Given the description of an element on the screen output the (x, y) to click on. 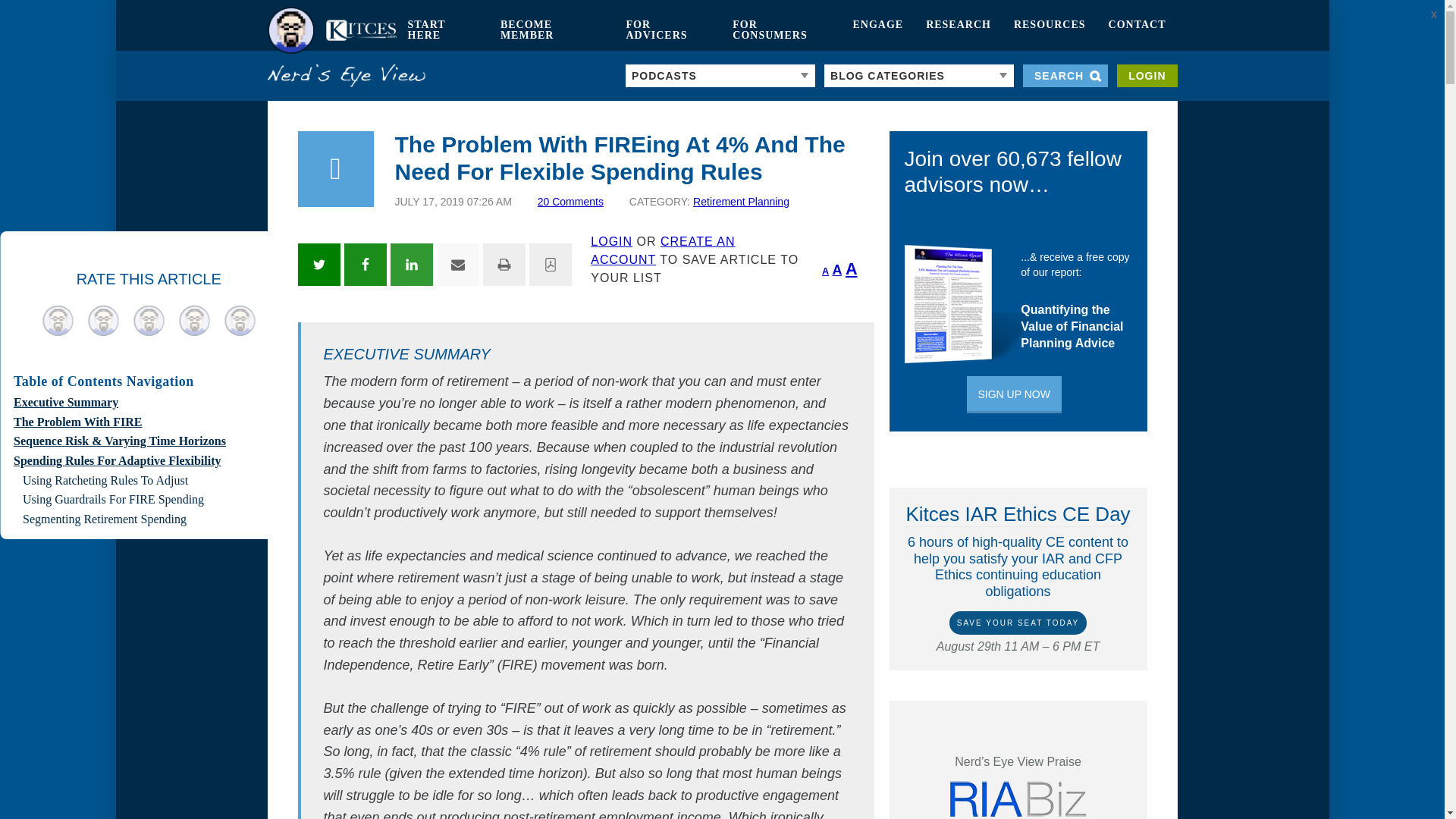
ENGAGE (877, 30)
BECOME MEMBER (551, 30)
FOR ADVICERS (667, 30)
Share via Email (457, 264)
Share on Facebook (365, 264)
START HERE (441, 30)
Kitces.com (331, 29)
RESEARCH (958, 30)
Share on LinkedIn (411, 264)
CONTACT (1137, 30)
FOR CONSUMERS (780, 30)
Share on Twitter (318, 264)
RESOURCES (1050, 30)
